Given the description of an element on the screen output the (x, y) to click on. 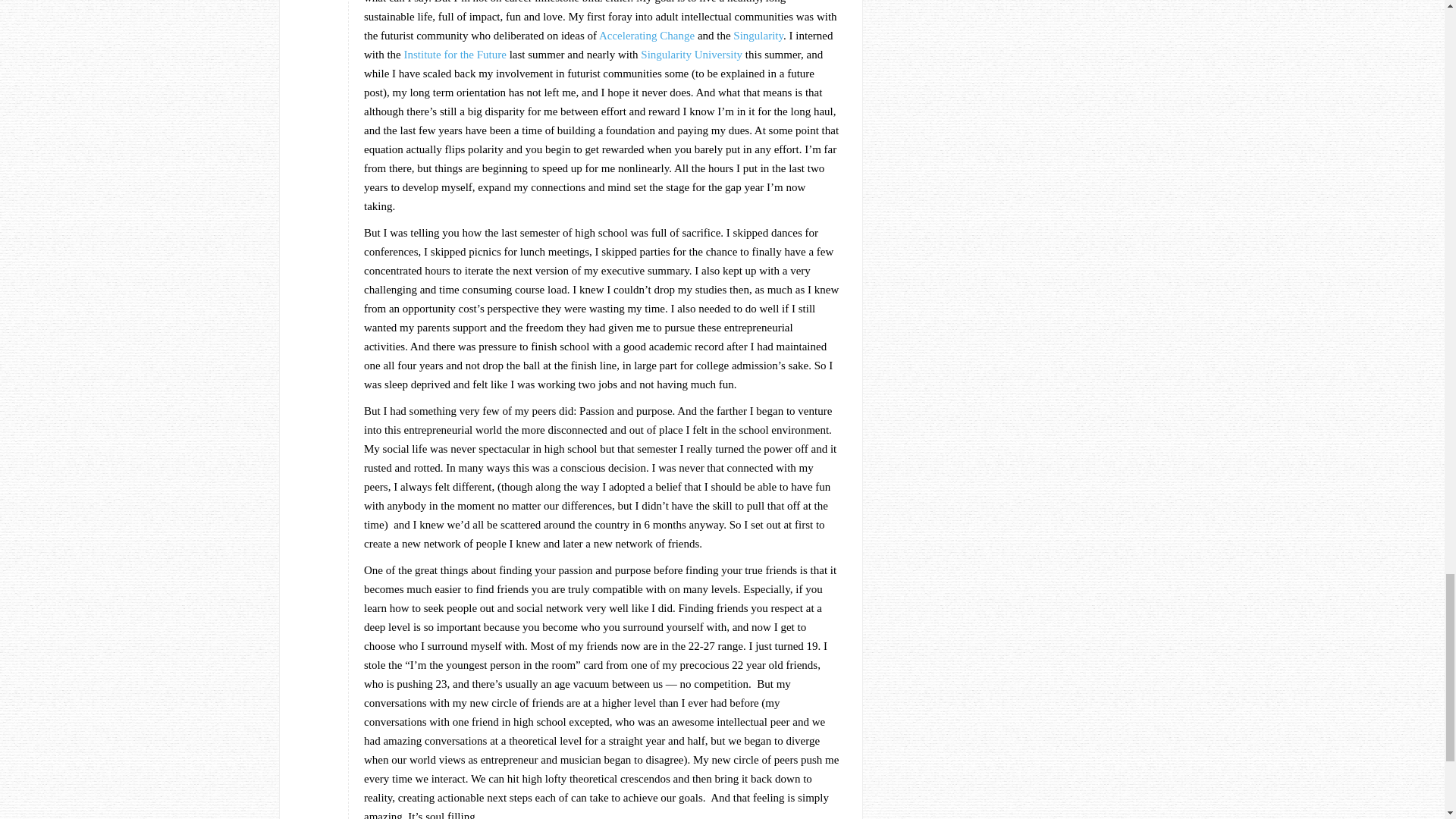
Singularity University (691, 54)
Singularity (758, 35)
Institute for the Future (454, 54)
Accelerating Change (645, 35)
